Given the description of an element on the screen output the (x, y) to click on. 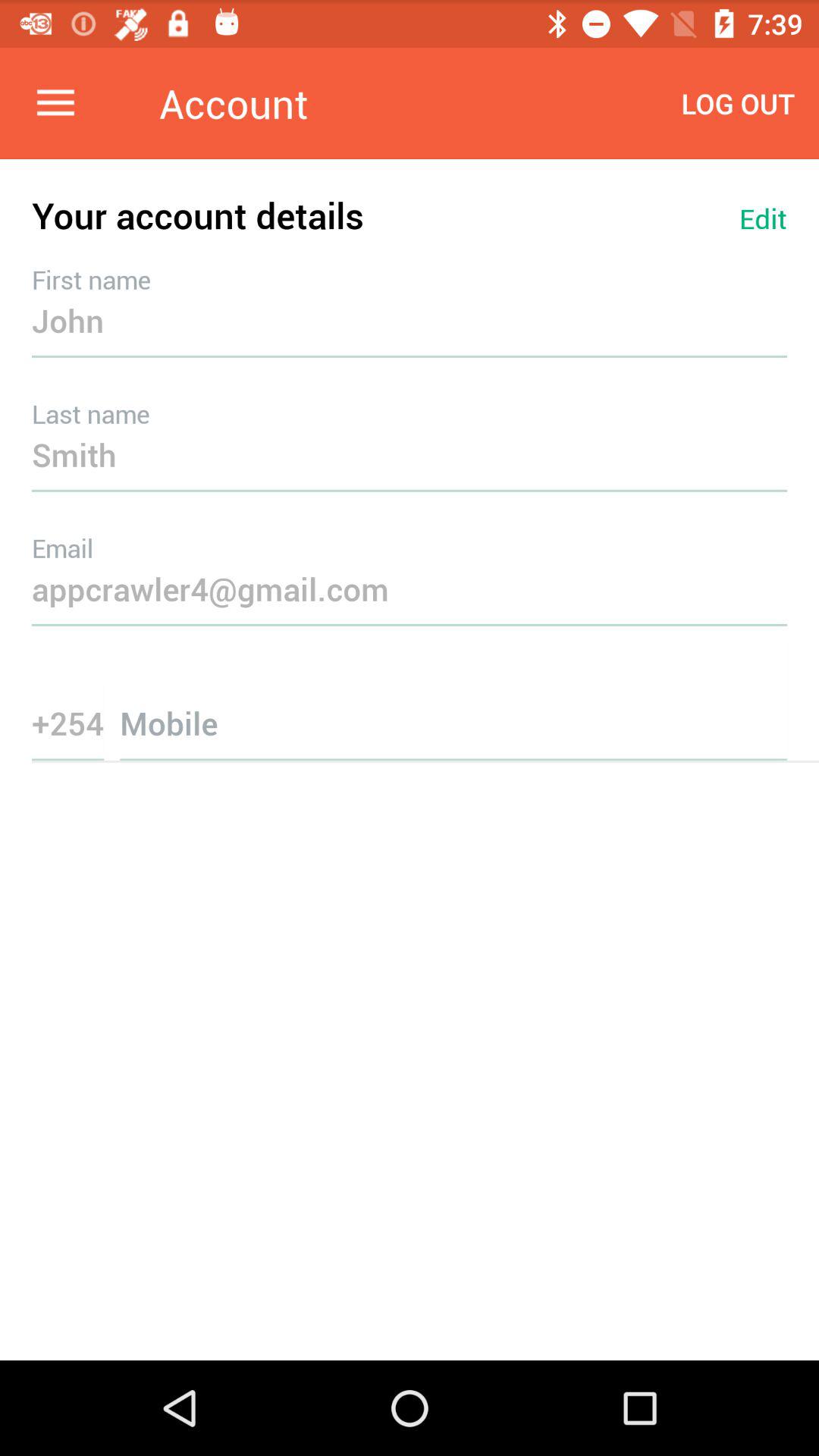
turn off the edit (763, 218)
